Given the description of an element on the screen output the (x, y) to click on. 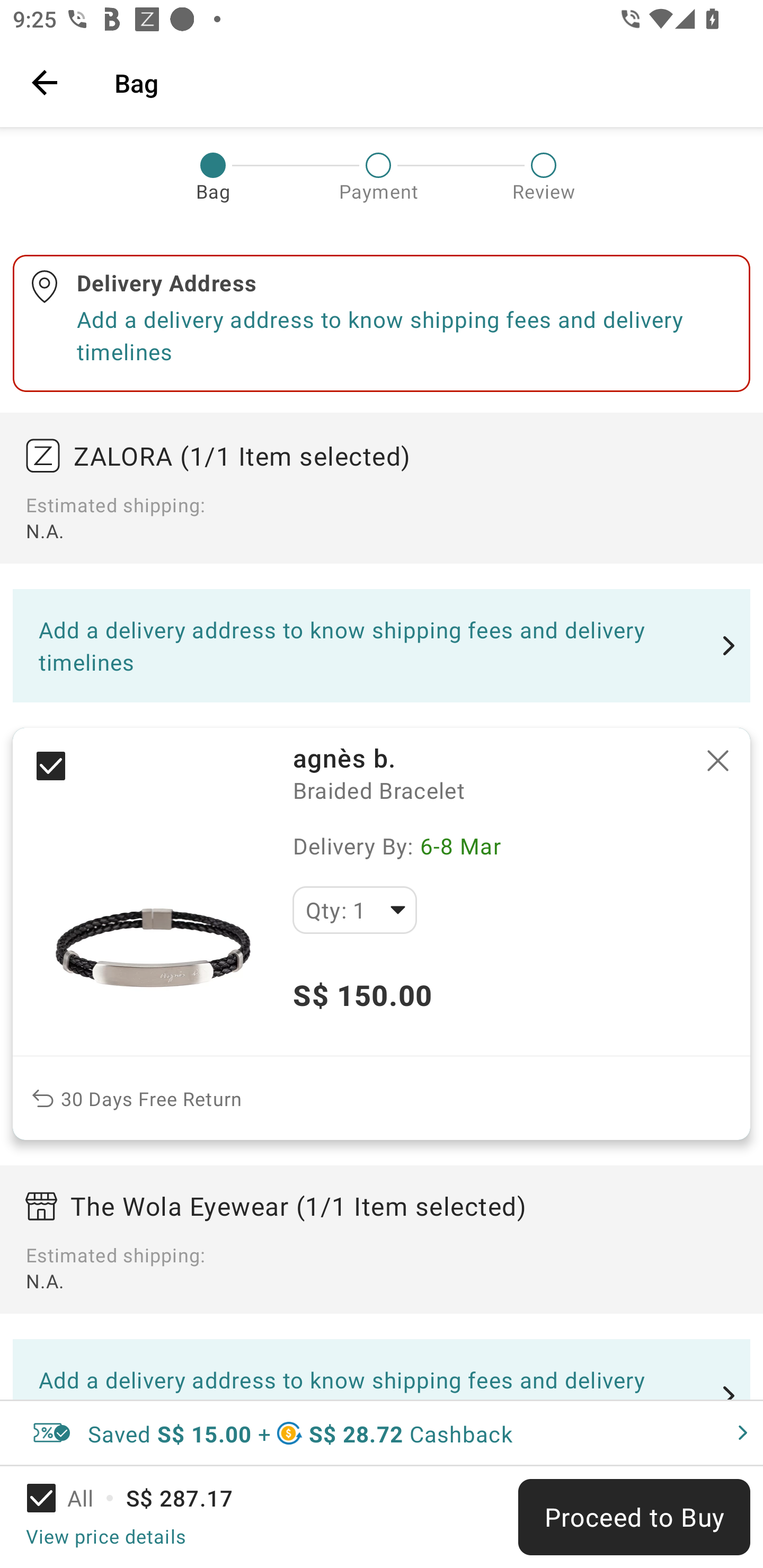
Navigate up (44, 82)
Bag (426, 82)
Qty: 1 (354, 909)
Saved S$ 15.00 +   S$ 28.72 Cashback (381, 1432)
All (72, 1497)
Proceed to Buy (634, 1516)
View price details (105, 1535)
